Given the description of an element on the screen output the (x, y) to click on. 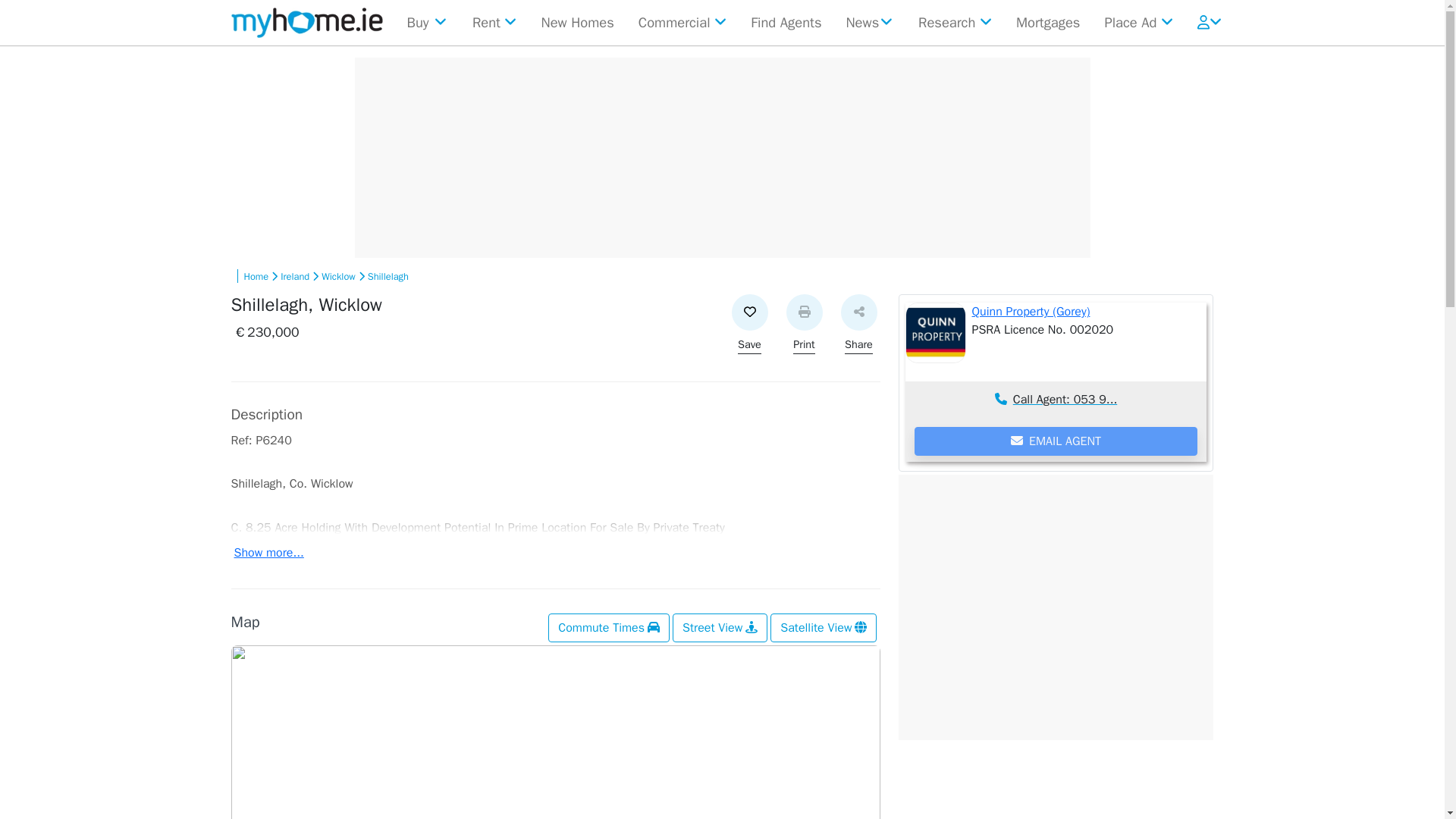
Rent (493, 22)
Buy (426, 22)
New Homes (577, 22)
